Given the description of an element on the screen output the (x, y) to click on. 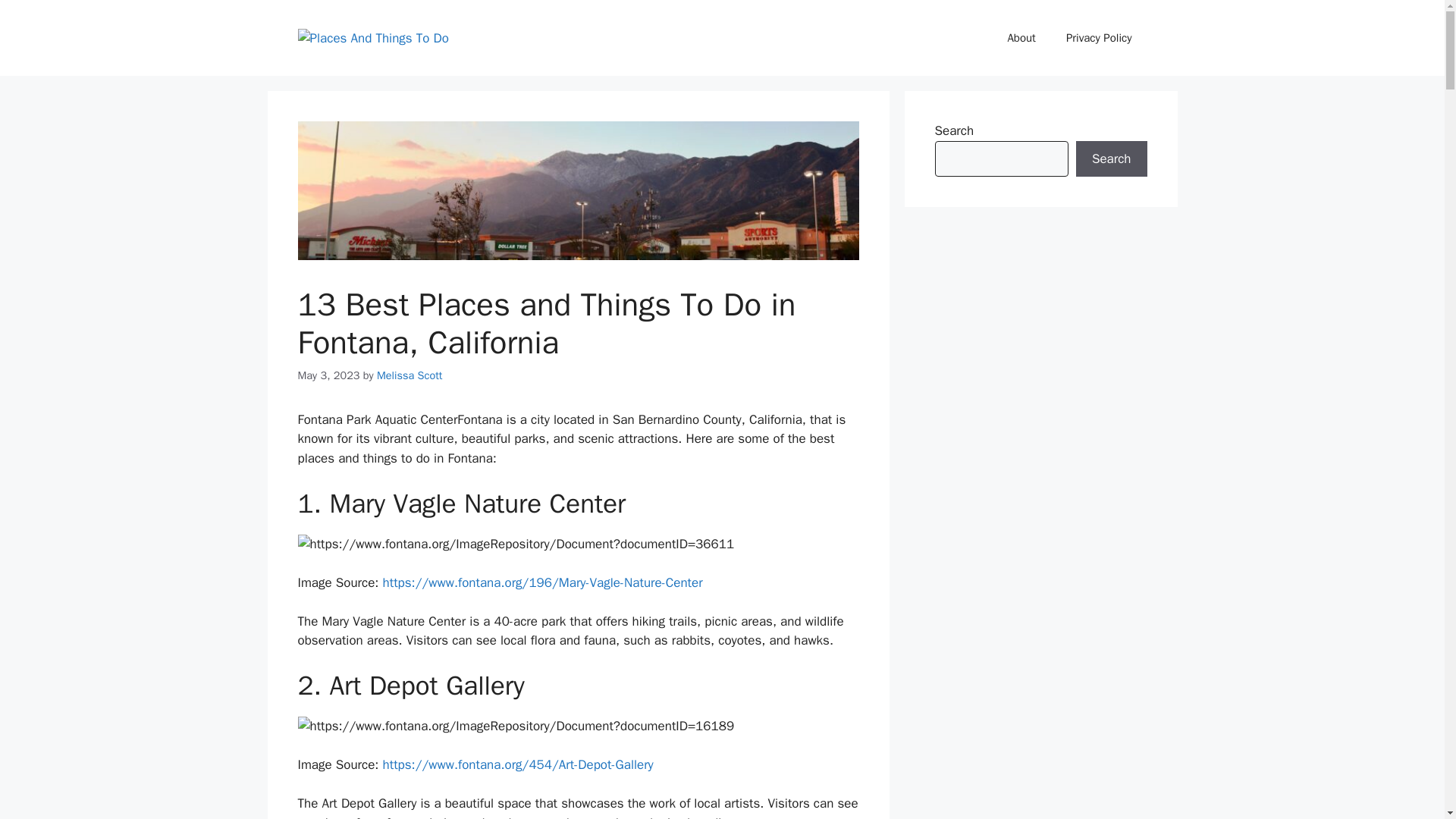
Melissa Scott (409, 375)
About (1020, 37)
View all posts by Melissa Scott (409, 375)
Privacy Policy (1099, 37)
